Given the description of an element on the screen output the (x, y) to click on. 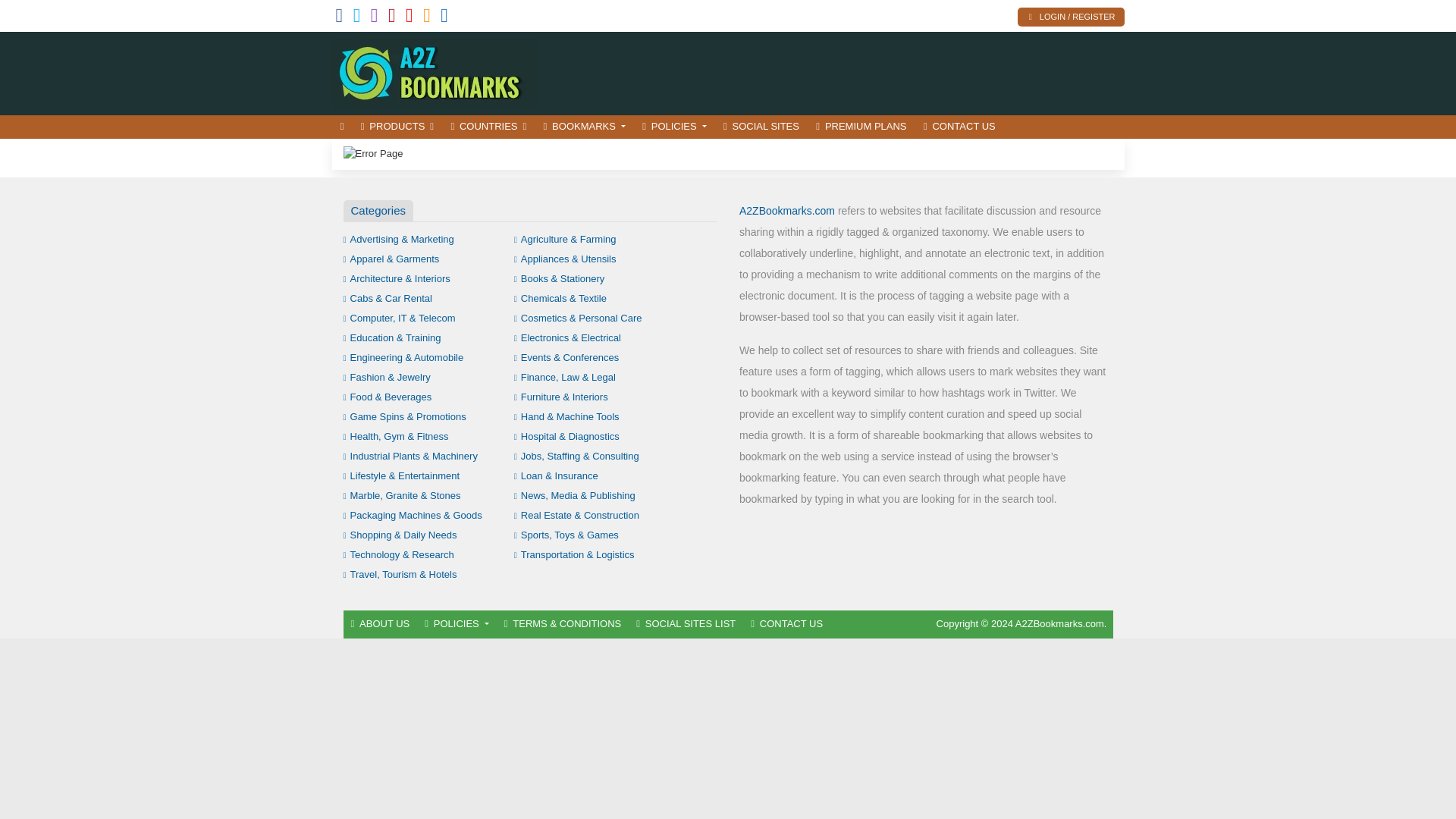
Linked In (444, 18)
Pinterest (392, 18)
Internet Content Powered by Business Product Marketers (434, 71)
YouTube (409, 18)
Twitter (357, 18)
PRODUCTS (397, 126)
HOME (341, 126)
Instagram (374, 18)
RSS Feed (426, 18)
Facebook (338, 18)
